Given the description of an element on the screen output the (x, y) to click on. 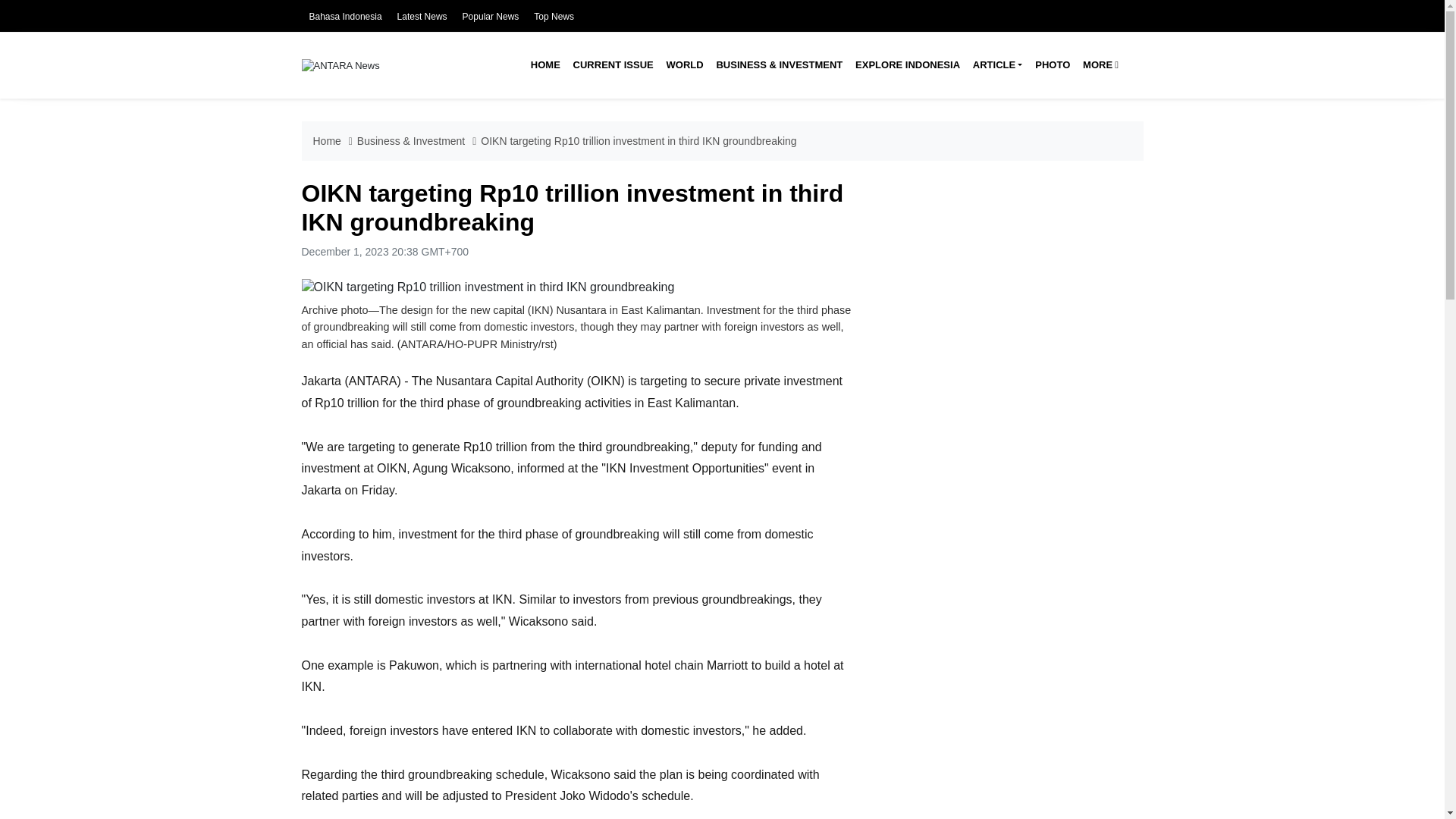
Current Issue (612, 64)
World (684, 64)
EXPLORE INDONESIA (907, 64)
Bahasa Indonesia (344, 16)
Latest News (421, 16)
PHOTO (1053, 64)
Explore Indonesia (907, 64)
Bahasa Indonesia (344, 16)
ARTICLE (996, 64)
Photo (1053, 64)
Popular News (491, 16)
HOME (545, 64)
WORLD (684, 64)
Popular News (491, 16)
Latest News (421, 16)
